Given the description of an element on the screen output the (x, y) to click on. 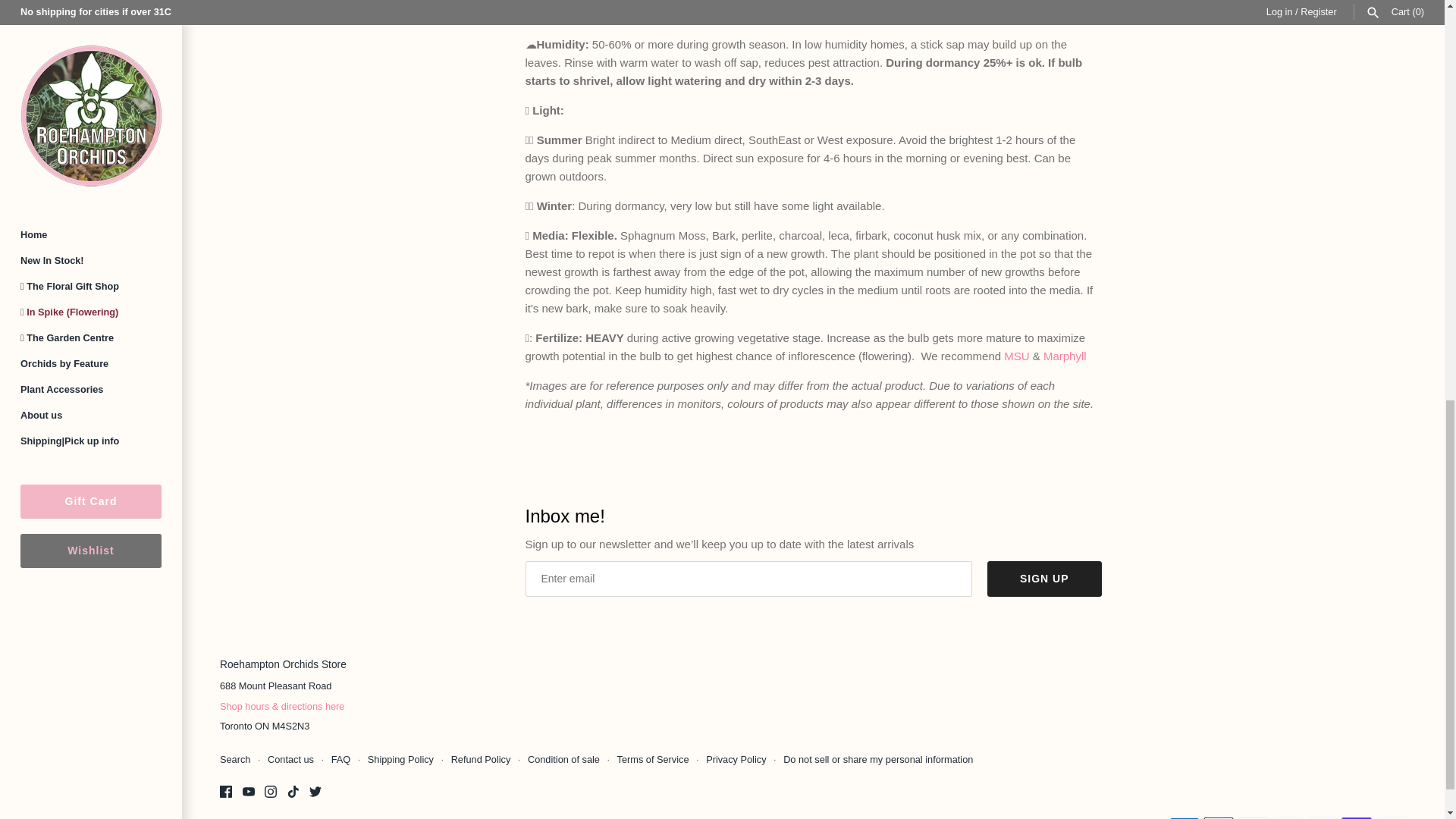
Apple Pay (1218, 818)
American Express (1184, 818)
PayPal (1322, 818)
Visa (1390, 818)
Twitter (314, 791)
MSU (1016, 355)
Youtube (248, 791)
Mastercard (1287, 818)
Facebook (225, 791)
Instagram (270, 791)
Google Pay (1253, 818)
Shop Pay (1355, 818)
